Given the description of an element on the screen output the (x, y) to click on. 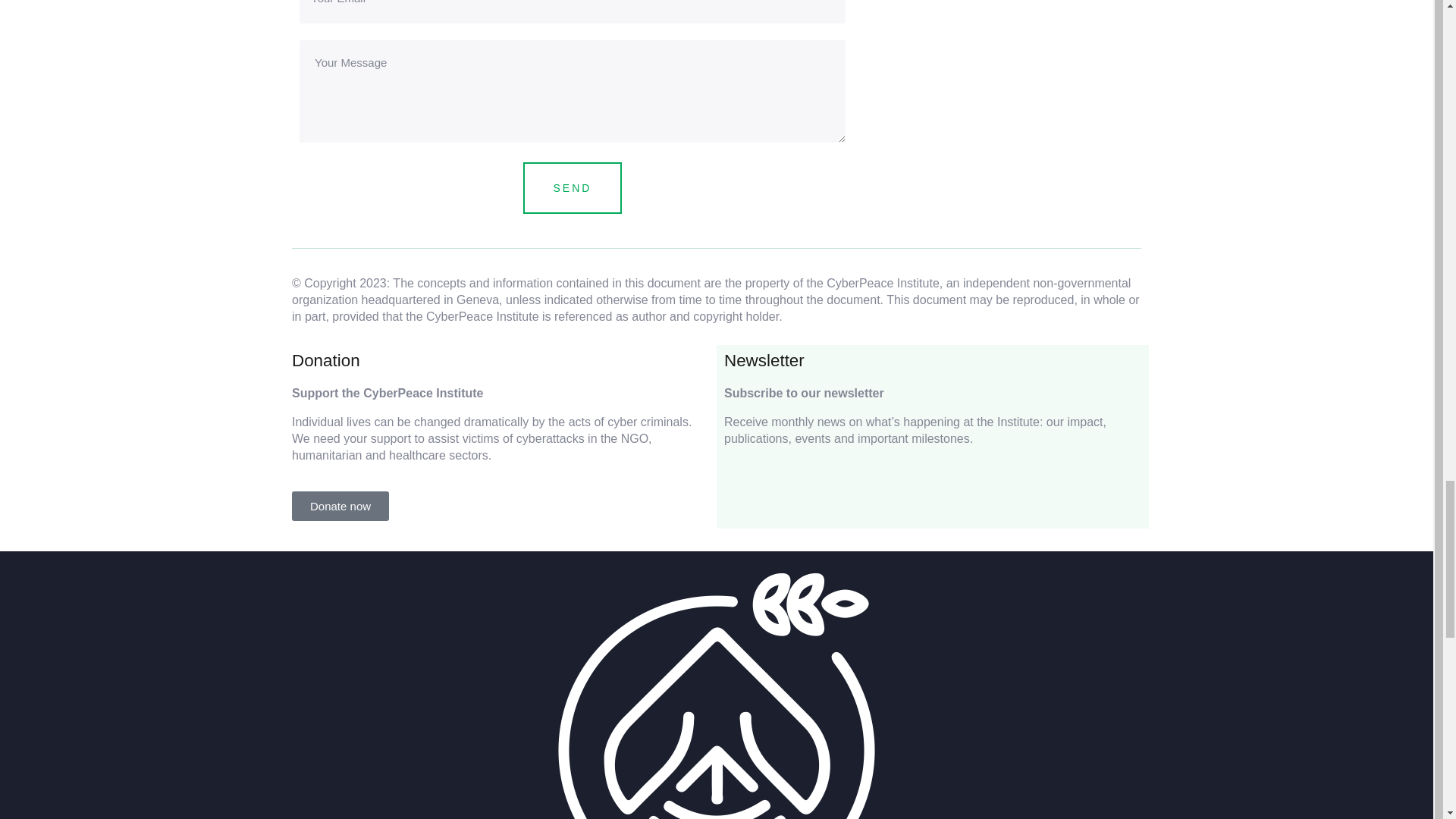
Send (572, 187)
